Given the description of an element on the screen output the (x, y) to click on. 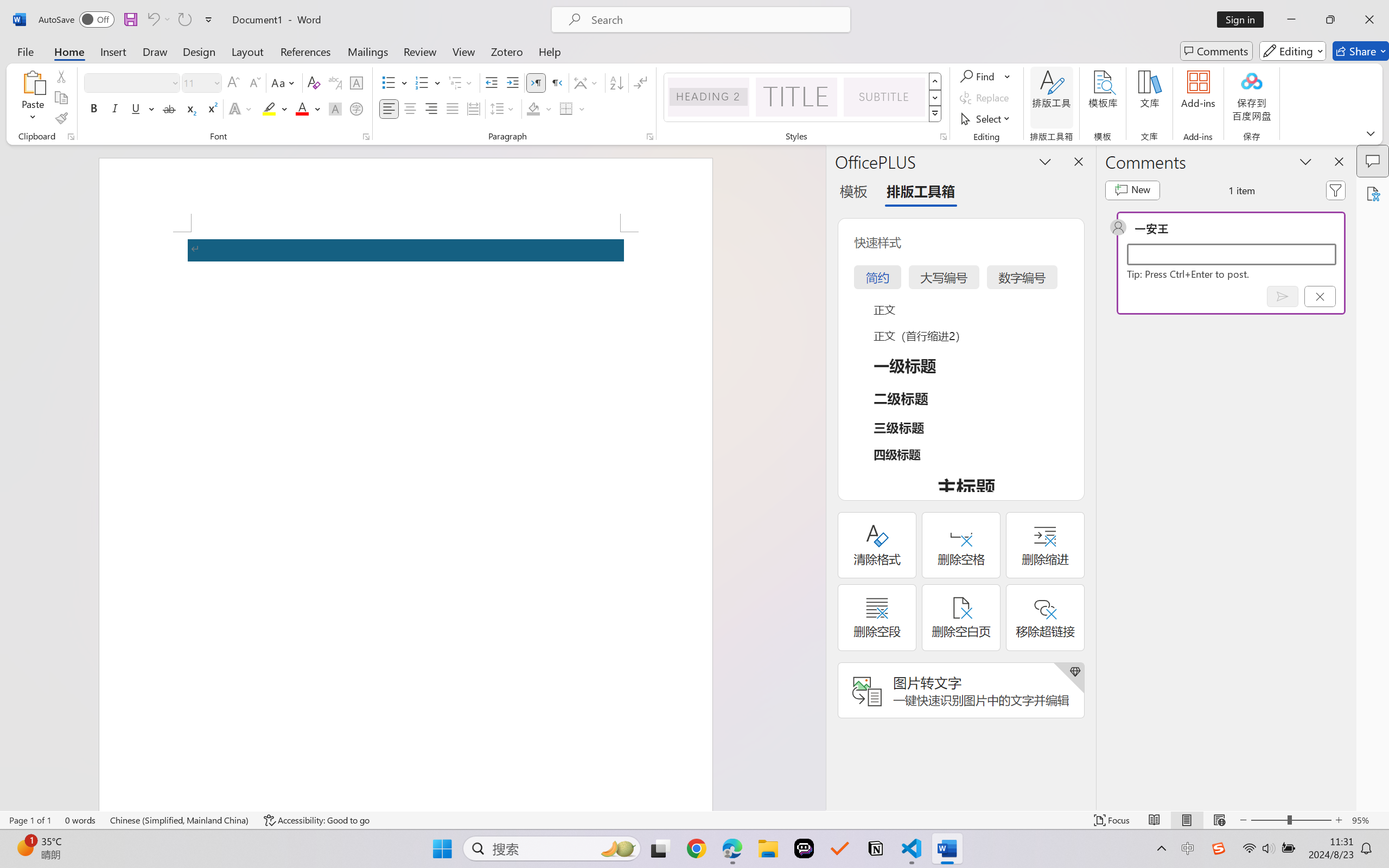
Editing (1292, 50)
Title (796, 96)
